Given the description of an element on the screen output the (x, y) to click on. 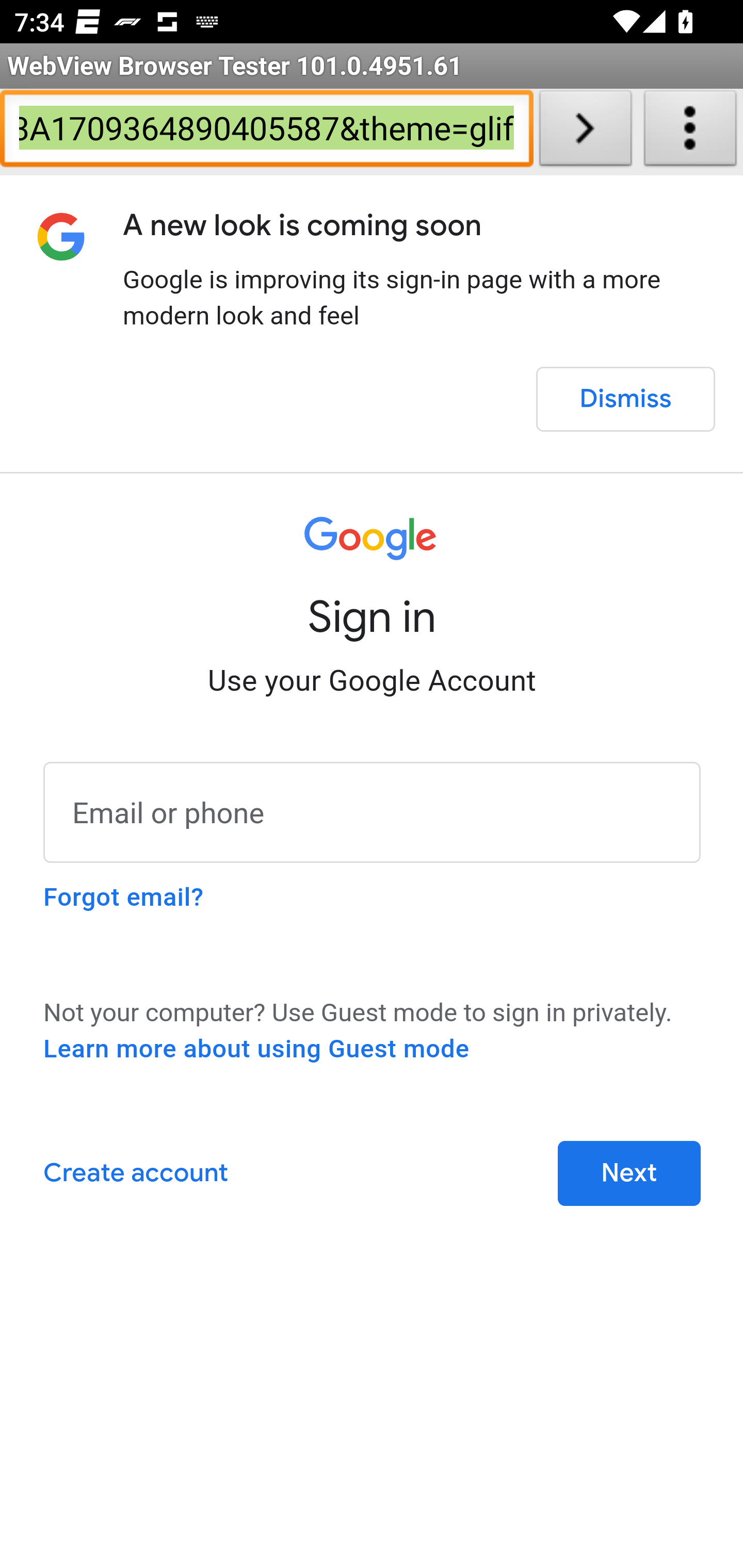
Load URL (585, 132)
About WebView (690, 132)
Dismiss (625, 398)
Forgot email? (123, 897)
Learn more about using Guest mode (256, 1048)
Create account (134, 1173)
Next (629, 1173)
